Given the description of an element on the screen output the (x, y) to click on. 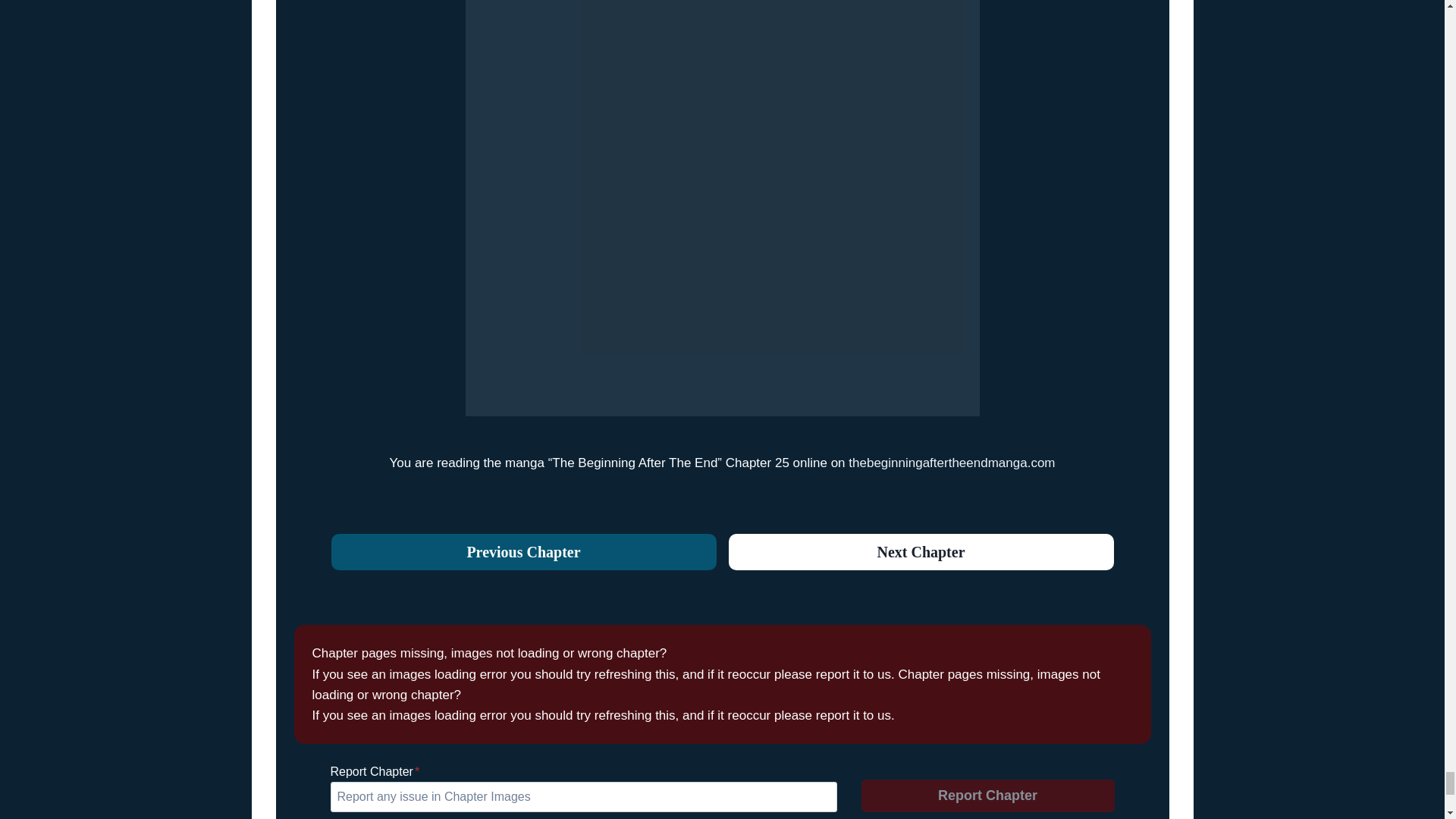
Previous Chapter (523, 551)
Report Chapter (988, 795)
thebeginningaftertheendmanga.com (951, 462)
Next Chapter (920, 551)
